Given the description of an element on the screen output the (x, y) to click on. 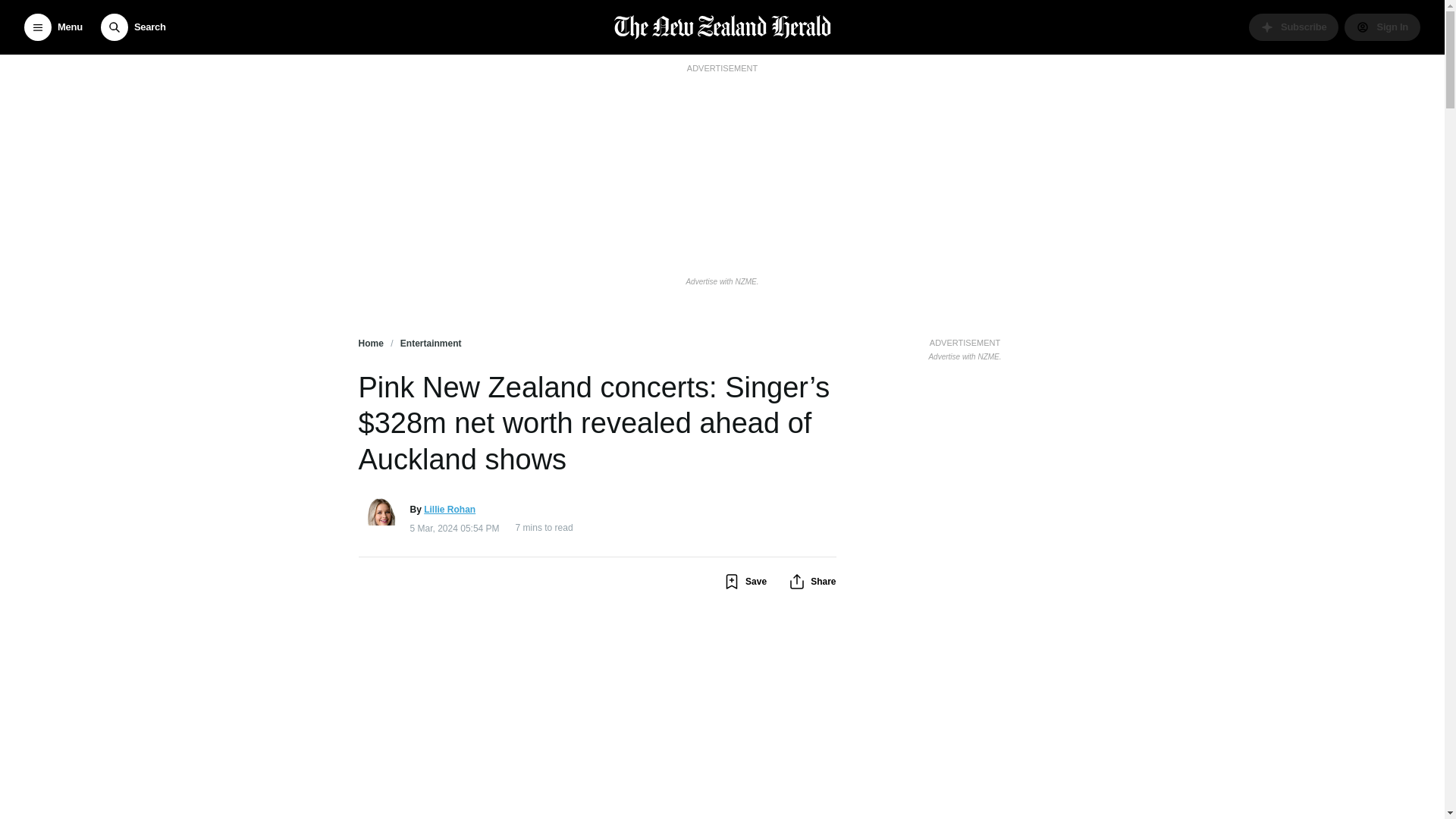
Manage your account (1382, 26)
Menu (53, 26)
Subscribe (1294, 26)
Search (132, 26)
Sign In (1382, 26)
